Given the description of an element on the screen output the (x, y) to click on. 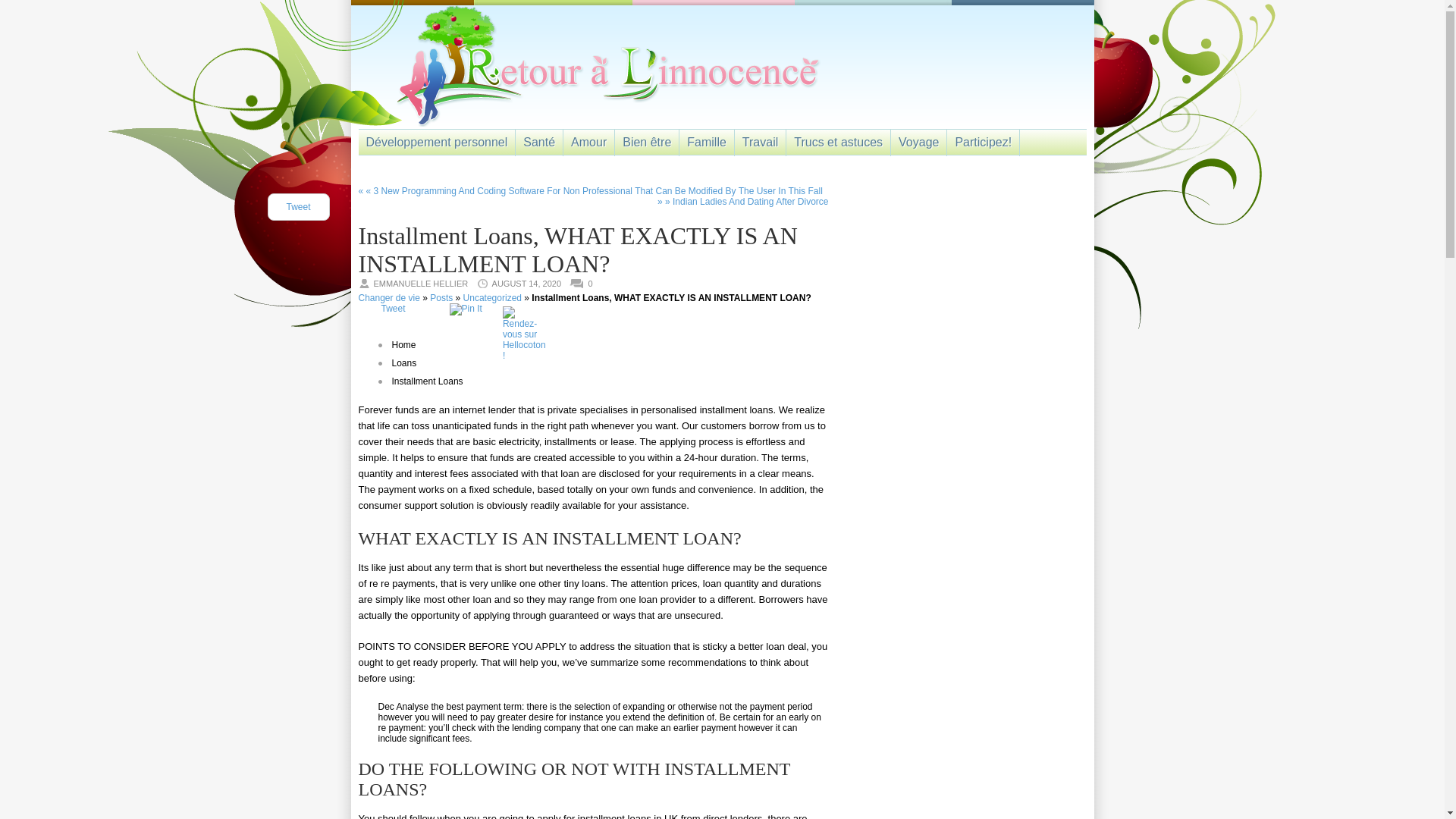
Trucs et astuces (837, 138)
Tweet (392, 308)
Posts (440, 297)
Changer de vie (388, 297)
Pin It (465, 309)
Amour (588, 138)
Participez! (983, 138)
0 (593, 283)
Travail (759, 138)
Tweet (297, 206)
